Given the description of an element on the screen output the (x, y) to click on. 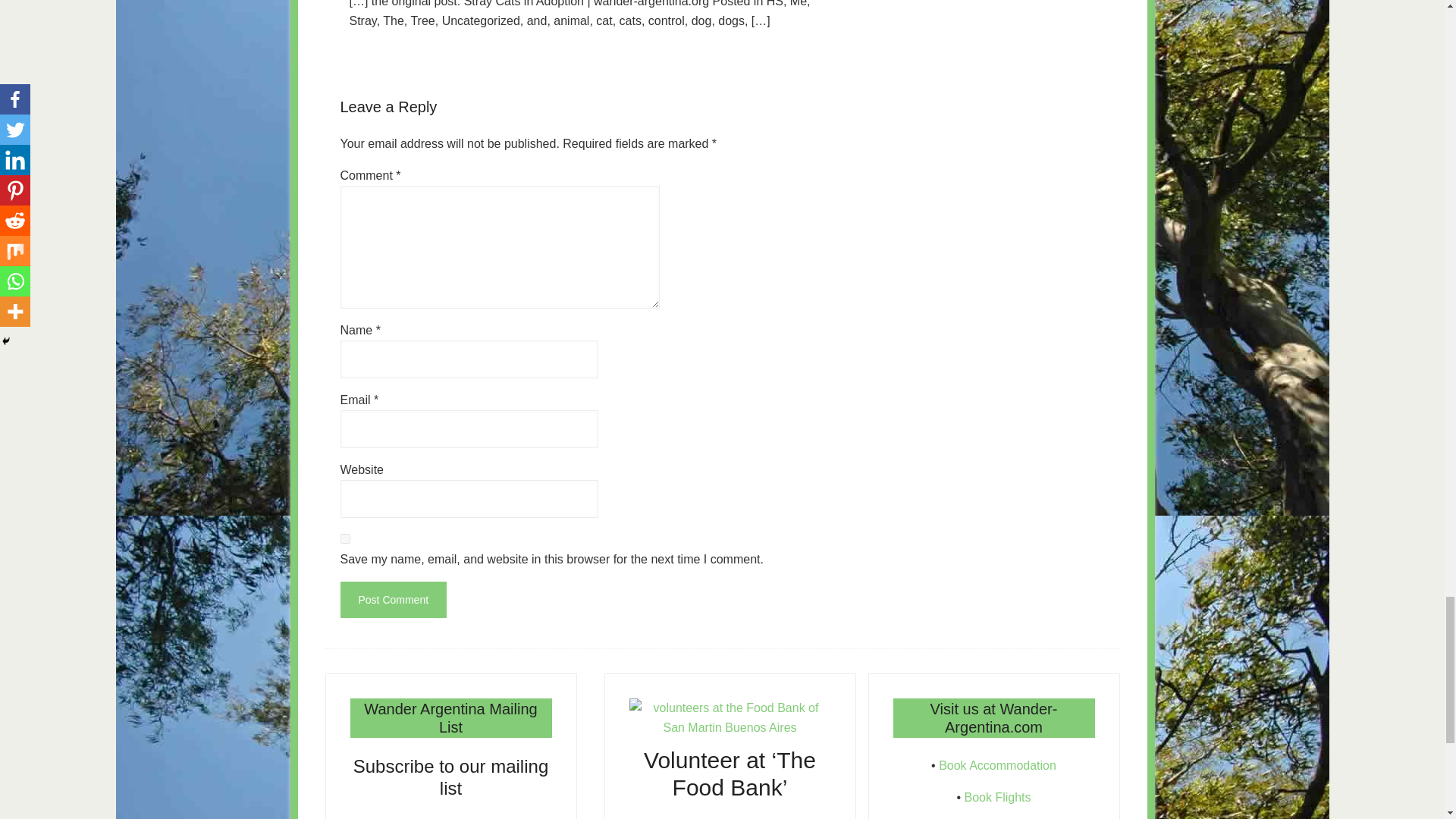
Post Comment (392, 599)
yes (344, 538)
